Given the description of an element on the screen output the (x, y) to click on. 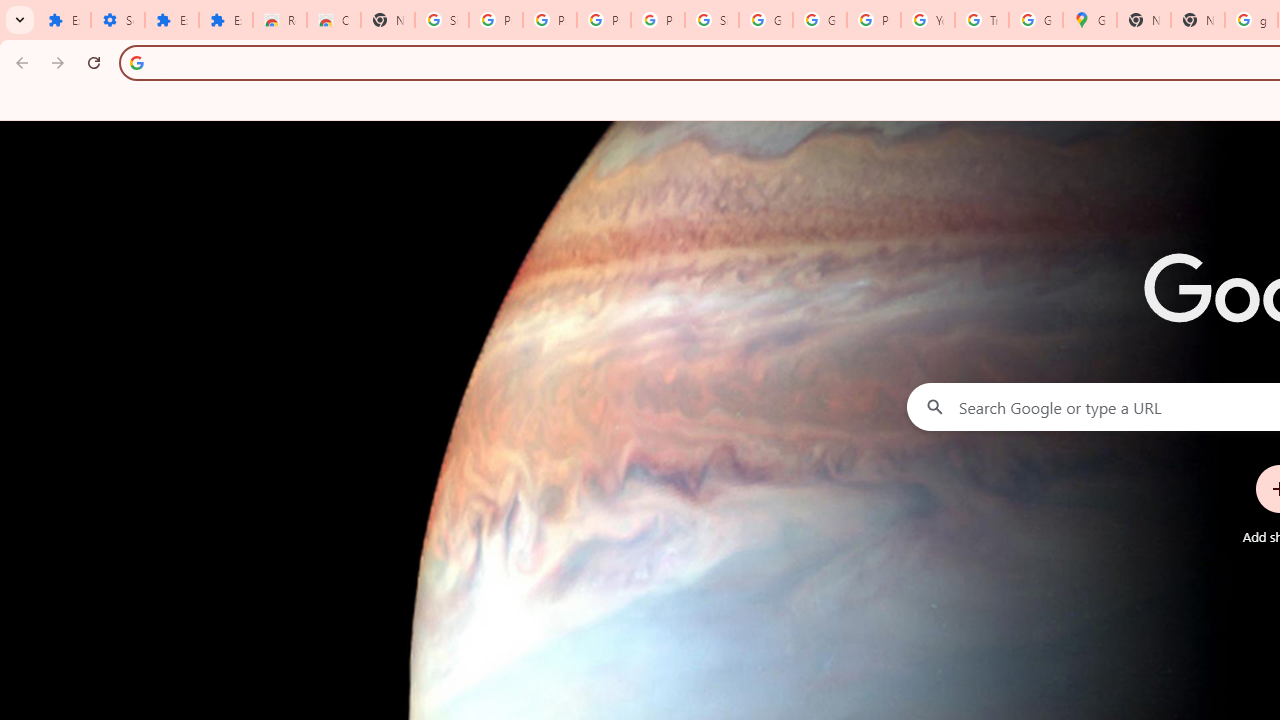
Google Maps (1089, 20)
Sign in - Google Accounts (711, 20)
Reviews: Helix Fruit Jump Arcade Game (280, 20)
Chrome Web Store - Themes (333, 20)
Search icon (136, 62)
New Tab (1197, 20)
